Given the description of an element on the screen output the (x, y) to click on. 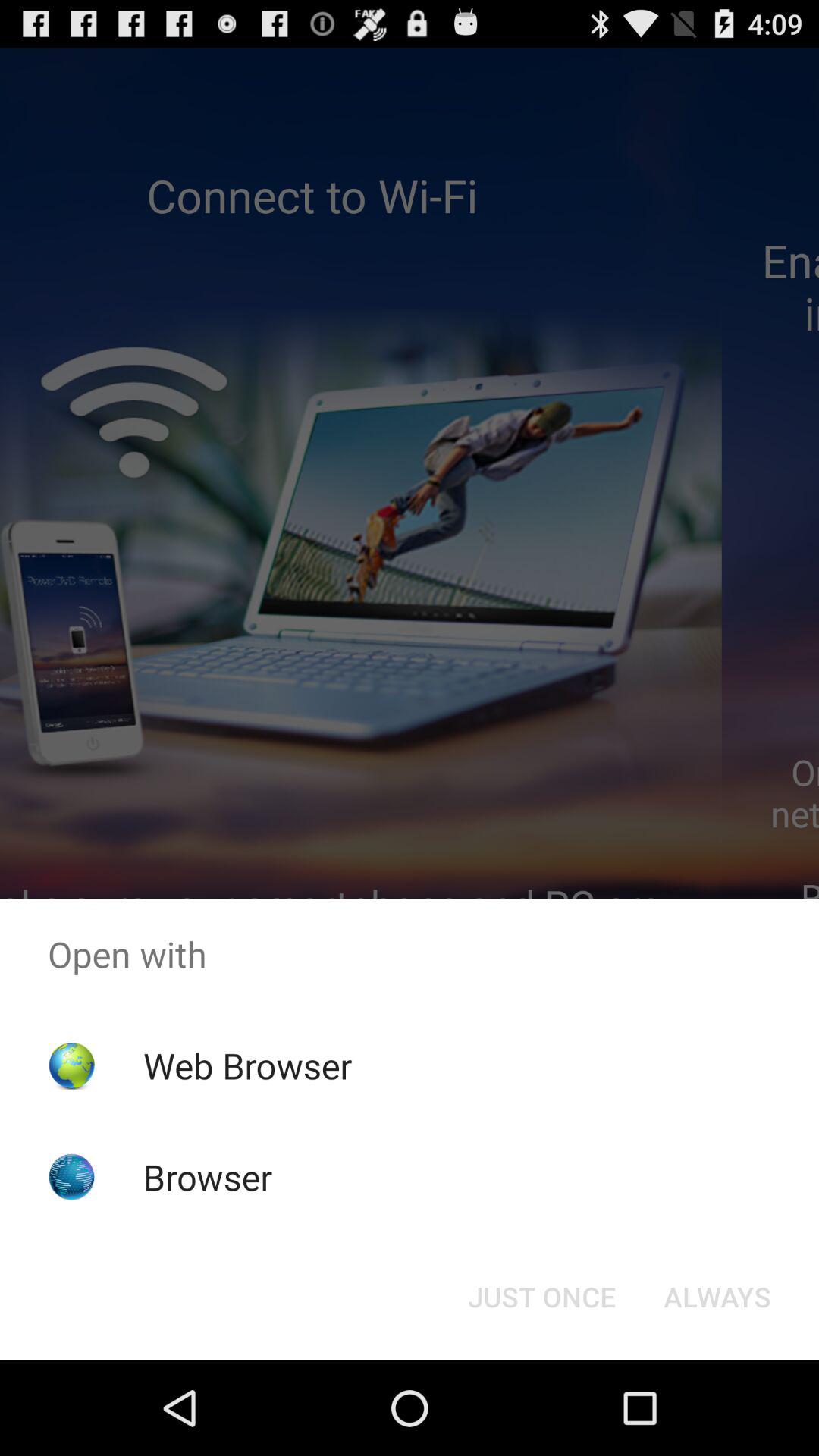
flip until the web browser item (247, 1065)
